Given the description of an element on the screen output the (x, y) to click on. 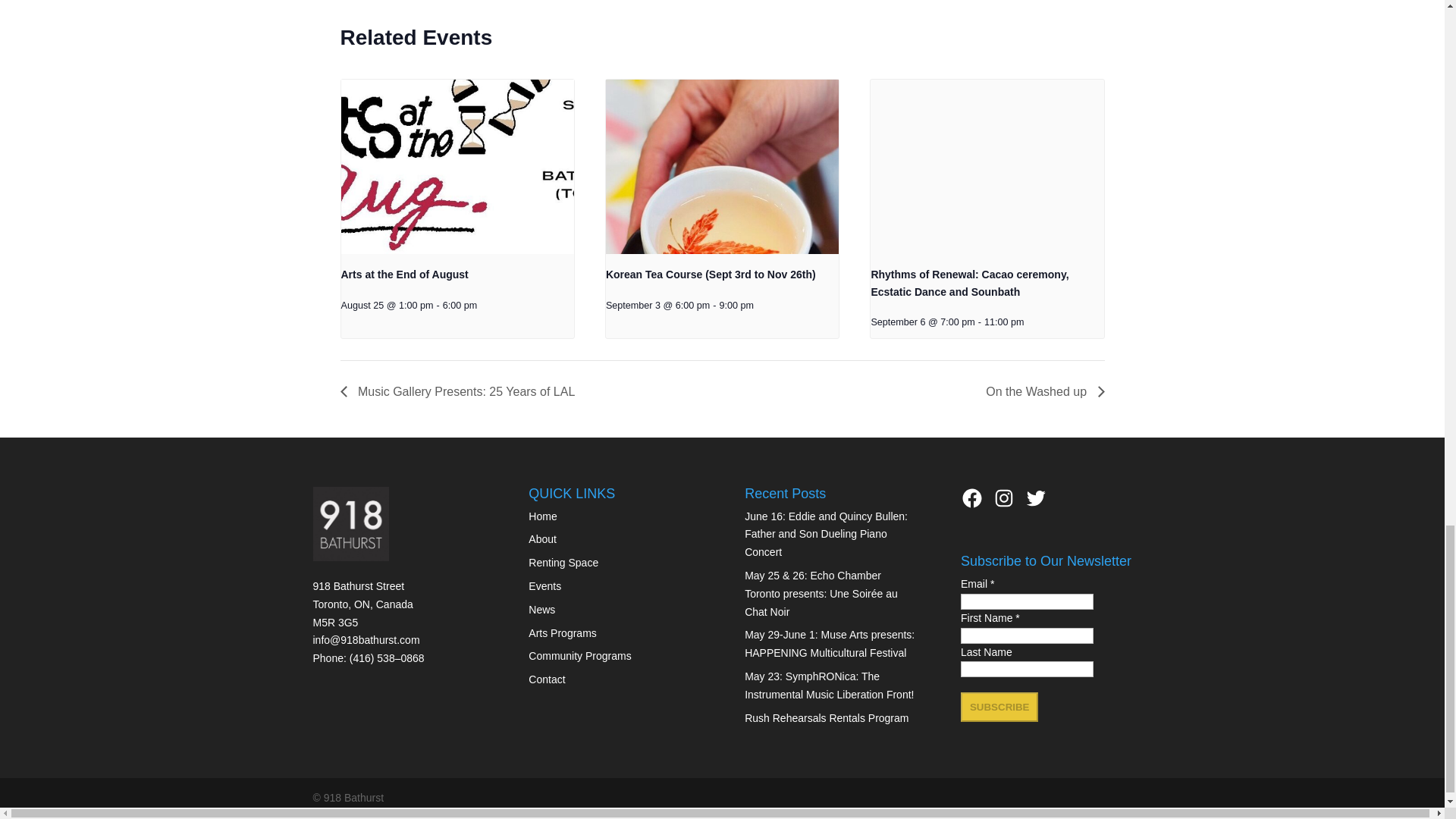
Subscribe (999, 706)
Arts at the End of August (404, 274)
Home (542, 516)
On the Washed up (1039, 391)
Music Gallery Presents: 25 Years of LAL (461, 391)
Renting Space (563, 562)
Events (544, 585)
News (541, 609)
About (542, 539)
